Given the description of an element on the screen output the (x, y) to click on. 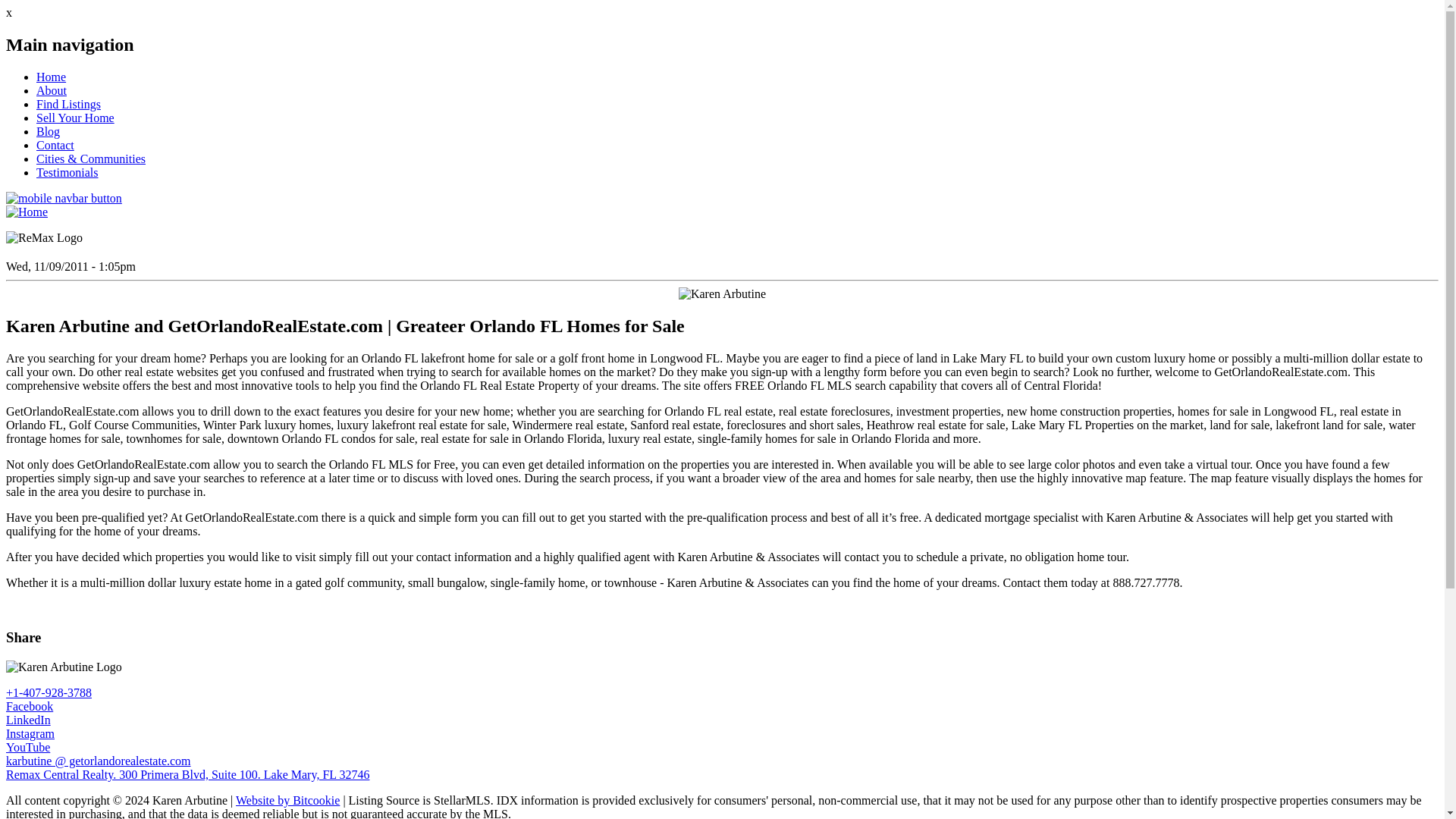
About (51, 90)
Testimonials (67, 172)
Blog (47, 131)
LinkedIn (27, 719)
Instagram (30, 733)
YouTube (27, 747)
Facebook (28, 706)
Website by Bitcookie (287, 799)
Find Listings (68, 103)
Contact (55, 144)
Home (50, 76)
Wednesday, November 9, 2011 - 1:05pm (70, 266)
Sell Your Home (75, 117)
